Given the description of an element on the screen output the (x, y) to click on. 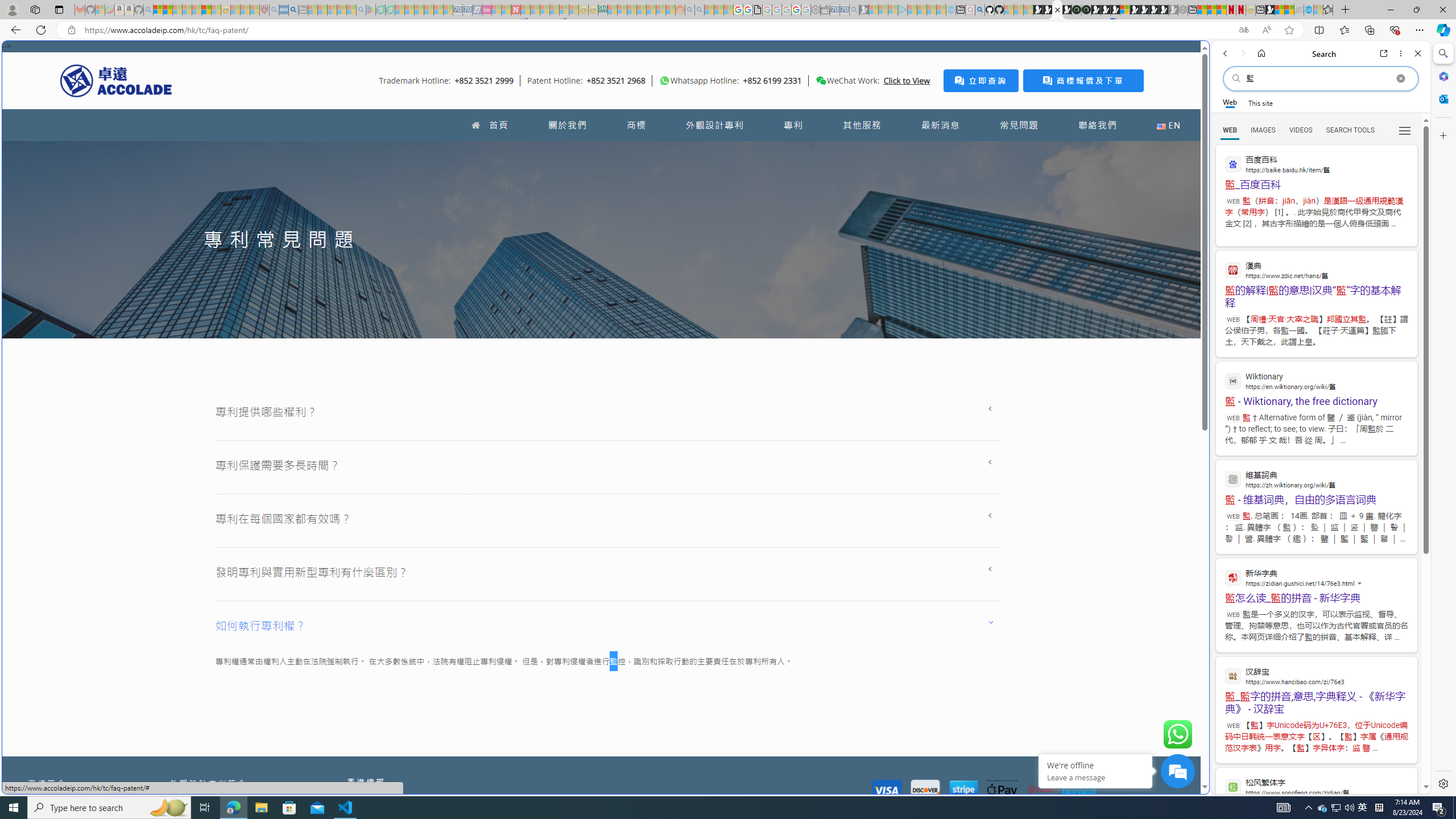
Clear (1400, 78)
